Given the description of an element on the screen output the (x, y) to click on. 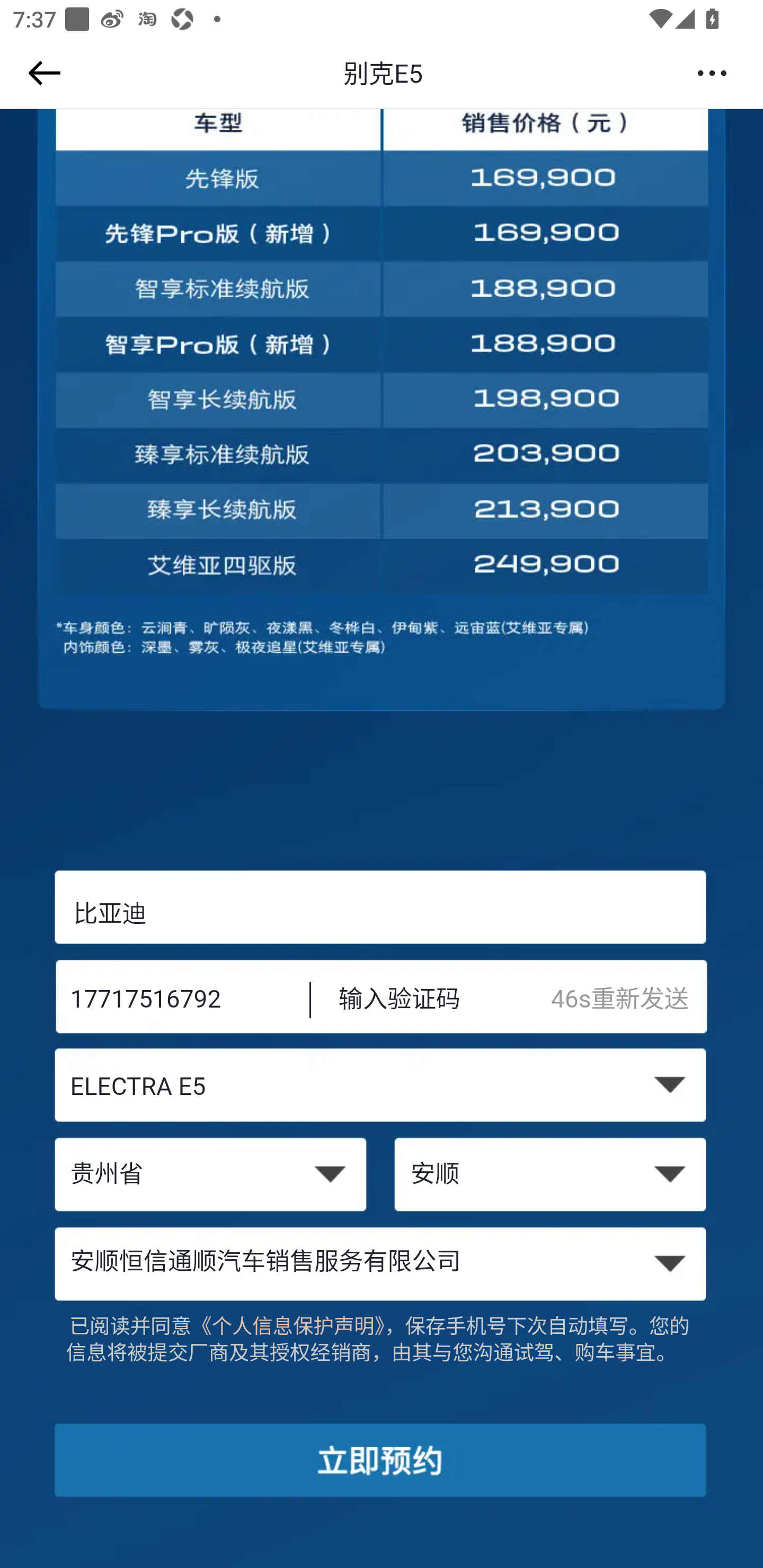
 (41, 72)
比亚迪 (381, 912)
17717516792 (176, 1001)
46s重新发送 (629, 1001)
ELECTRA E5 (381, 1088)
贵州省 (210, 1175)
安顺 (552, 1175)
安顺恒信通顺汽车销售服务有限公司 (381, 1262)
